Given the description of an element on the screen output the (x, y) to click on. 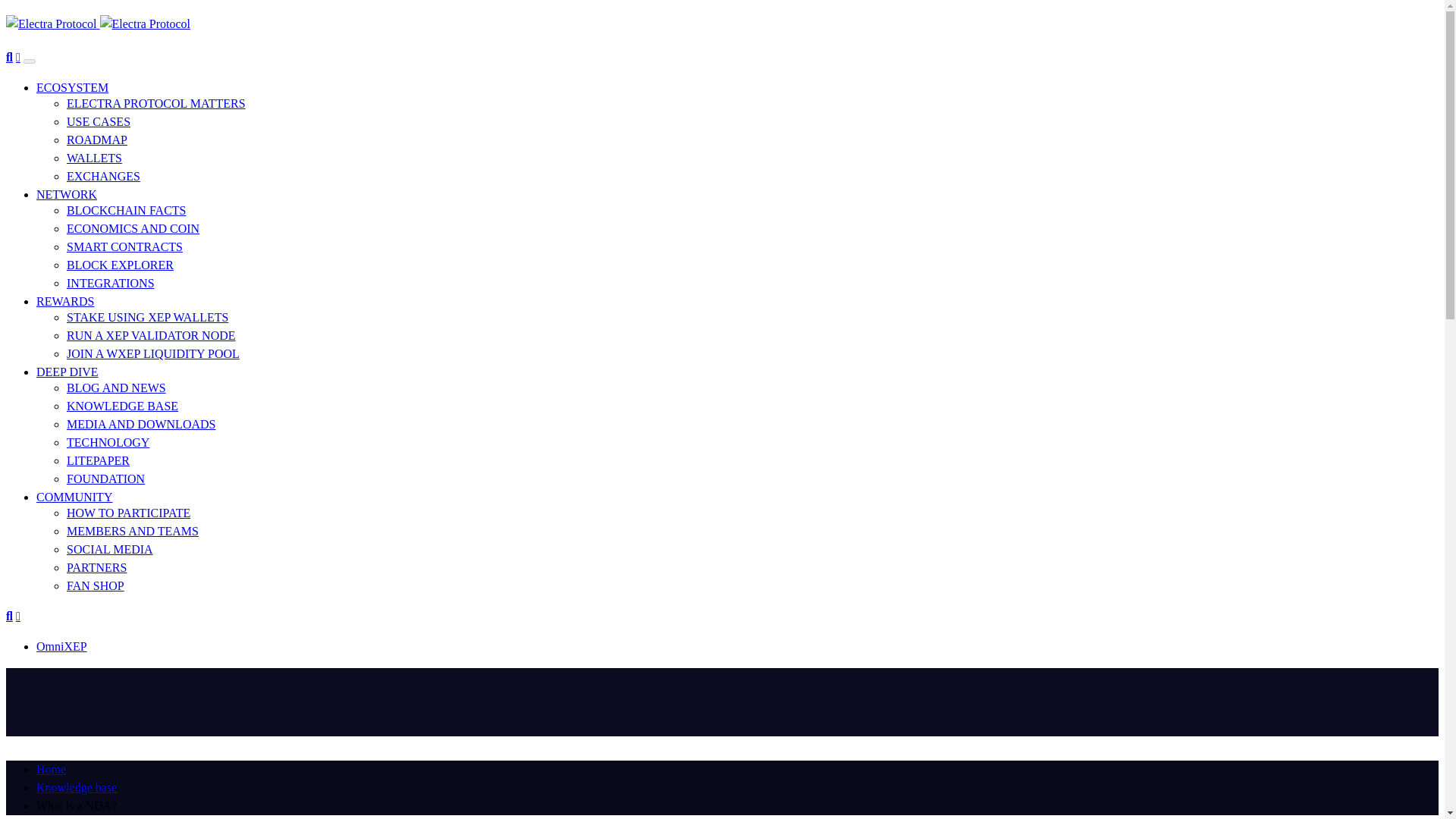
BLOCK EXPLORER (119, 264)
ELECTRA PROTOCOL MATTERS (156, 103)
MEDIA AND DOWNLOADS (140, 423)
USE CASES (98, 121)
WALLETS (94, 157)
BLOCKCHAIN FACTS (126, 210)
COMMUNITY (74, 496)
REWARDS (65, 300)
MEMBERS AND TEAMS (132, 530)
JOIN A WXEP LIQUIDITY POOL (153, 353)
